Given the description of an element on the screen output the (x, y) to click on. 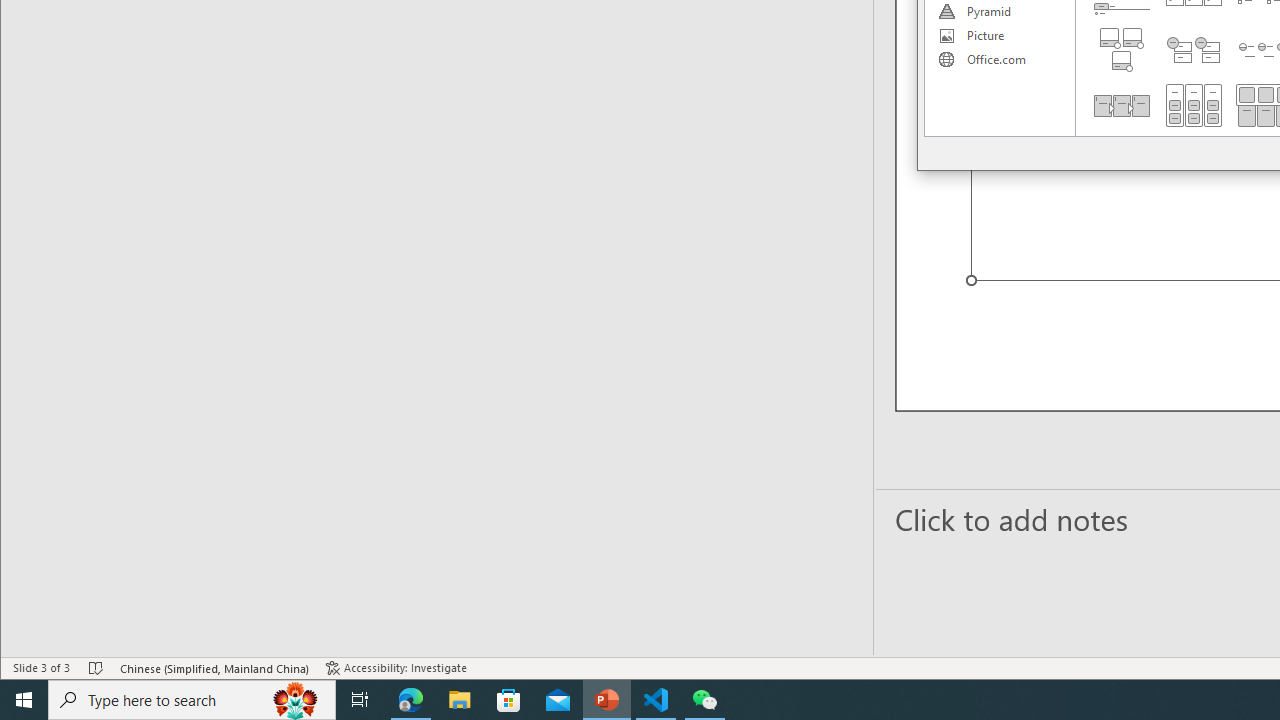
Bending Picture Accent List (1121, 49)
Pyramid (999, 11)
Office.com (999, 60)
